Given the description of an element on the screen output the (x, y) to click on. 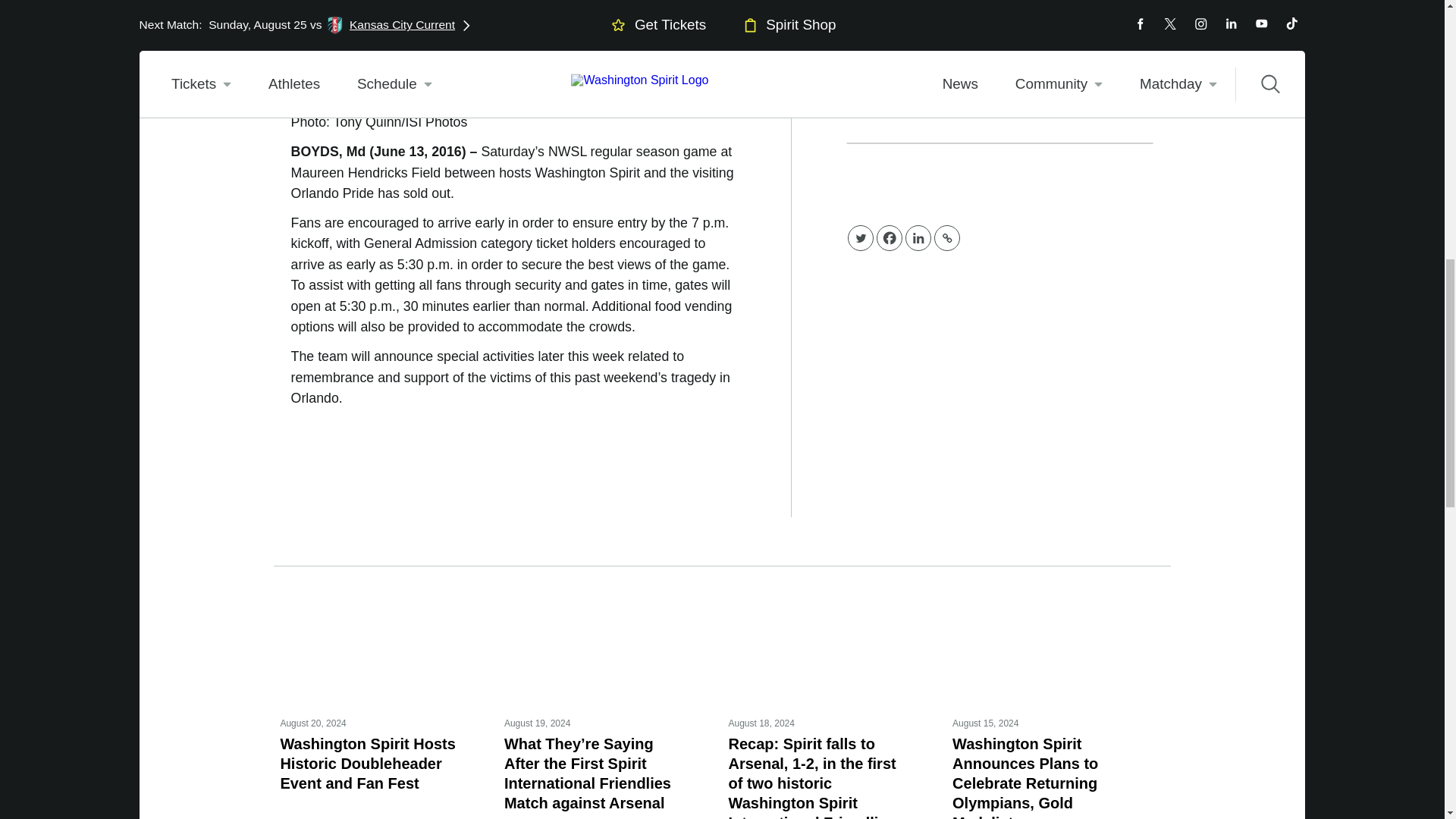
Facebook (889, 237)
Twitter (860, 237)
Linkedin (918, 237)
Copy Link (946, 237)
